Given the description of an element on the screen output the (x, y) to click on. 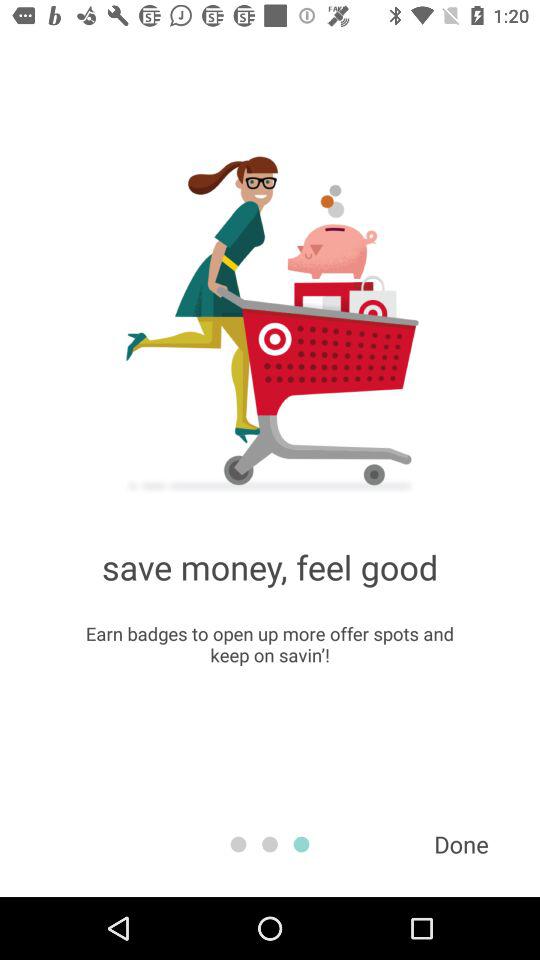
tap the item at the bottom right corner (461, 844)
